Given the description of an element on the screen output the (x, y) to click on. 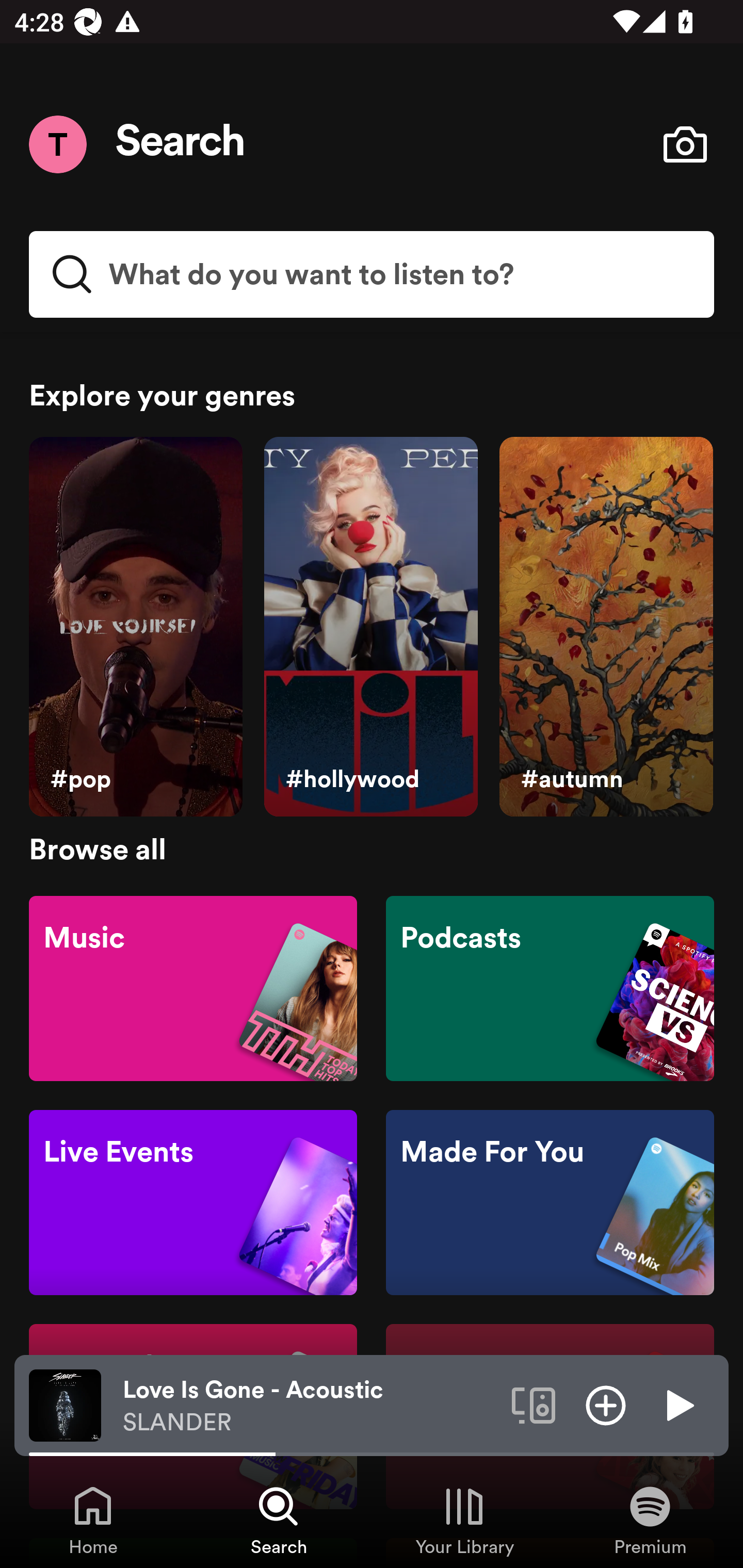
Menu (57, 144)
Open camera (685, 145)
Search (180, 144)
#pop (135, 626)
#hollywood (370, 626)
#autumn (606, 626)
Music (192, 987)
Podcasts (549, 987)
Live Events (192, 1202)
Made For You (549, 1202)
Love Is Gone - Acoustic SLANDER (309, 1405)
The cover art of the currently playing track (64, 1404)
Connect to a device. Opens the devices menu (533, 1404)
Add item (605, 1404)
Play (677, 1404)
Home, Tab 1 of 4 Home Home (92, 1519)
Search, Tab 2 of 4 Search Search (278, 1519)
Your Library, Tab 3 of 4 Your Library Your Library (464, 1519)
Premium, Tab 4 of 4 Premium Premium (650, 1519)
